Given the description of an element on the screen output the (x, y) to click on. 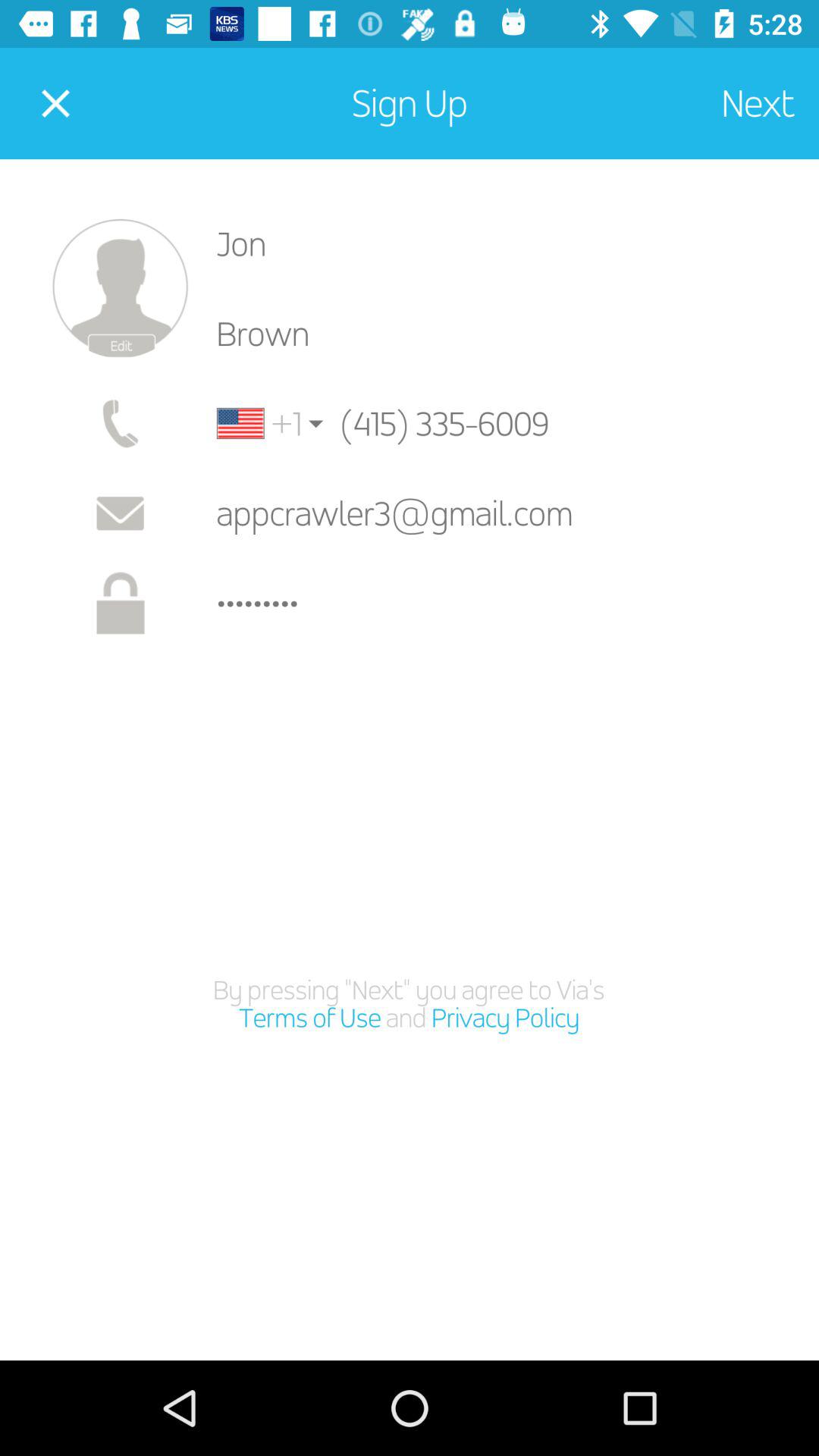
turn on (415) 335-6009 icon (472, 423)
